Given the description of an element on the screen output the (x, y) to click on. 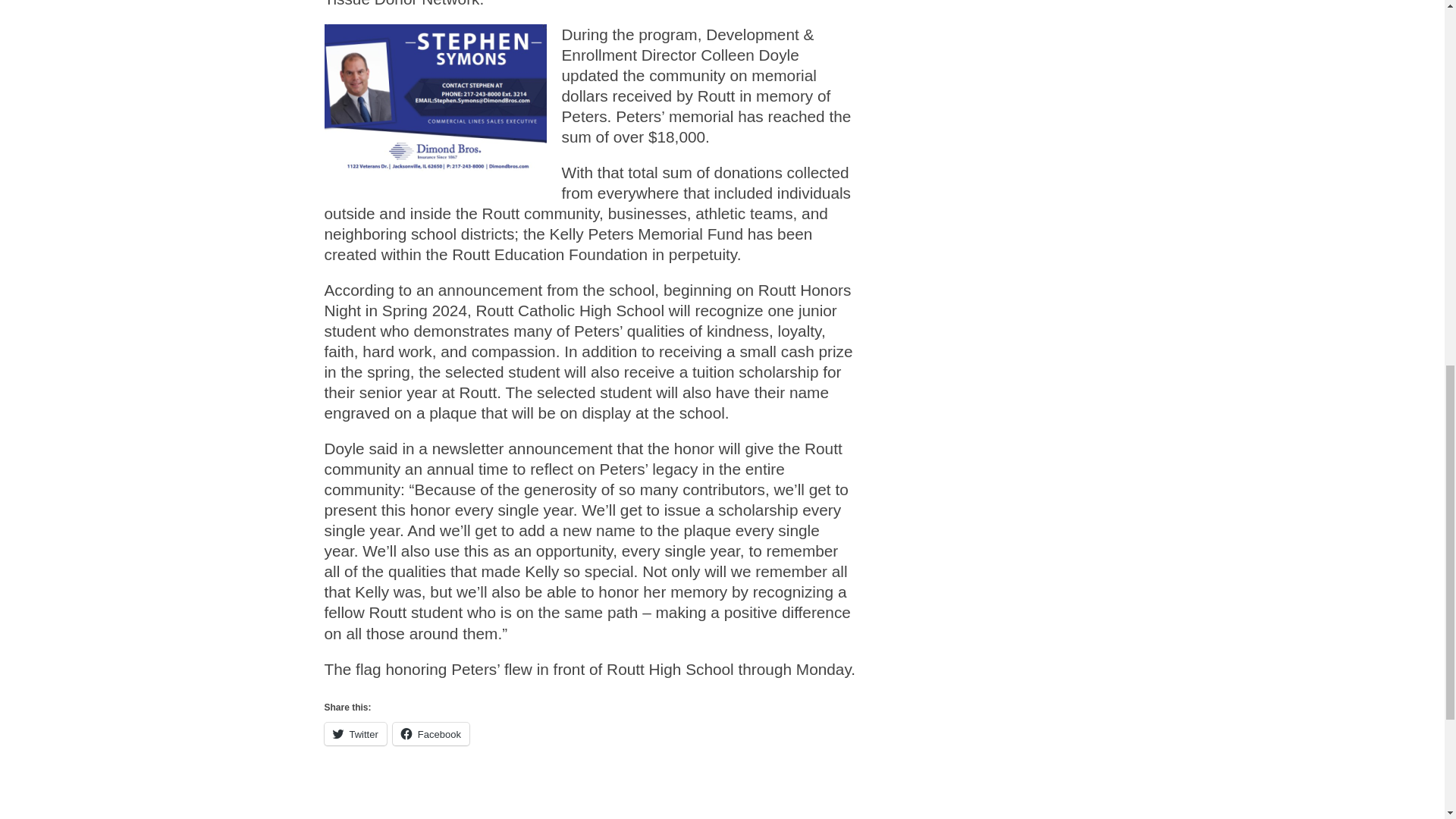
Click to share on Facebook (430, 733)
Click to share on Twitter (355, 733)
Facebook (430, 733)
Twitter (355, 733)
